Given the description of an element on the screen output the (x, y) to click on. 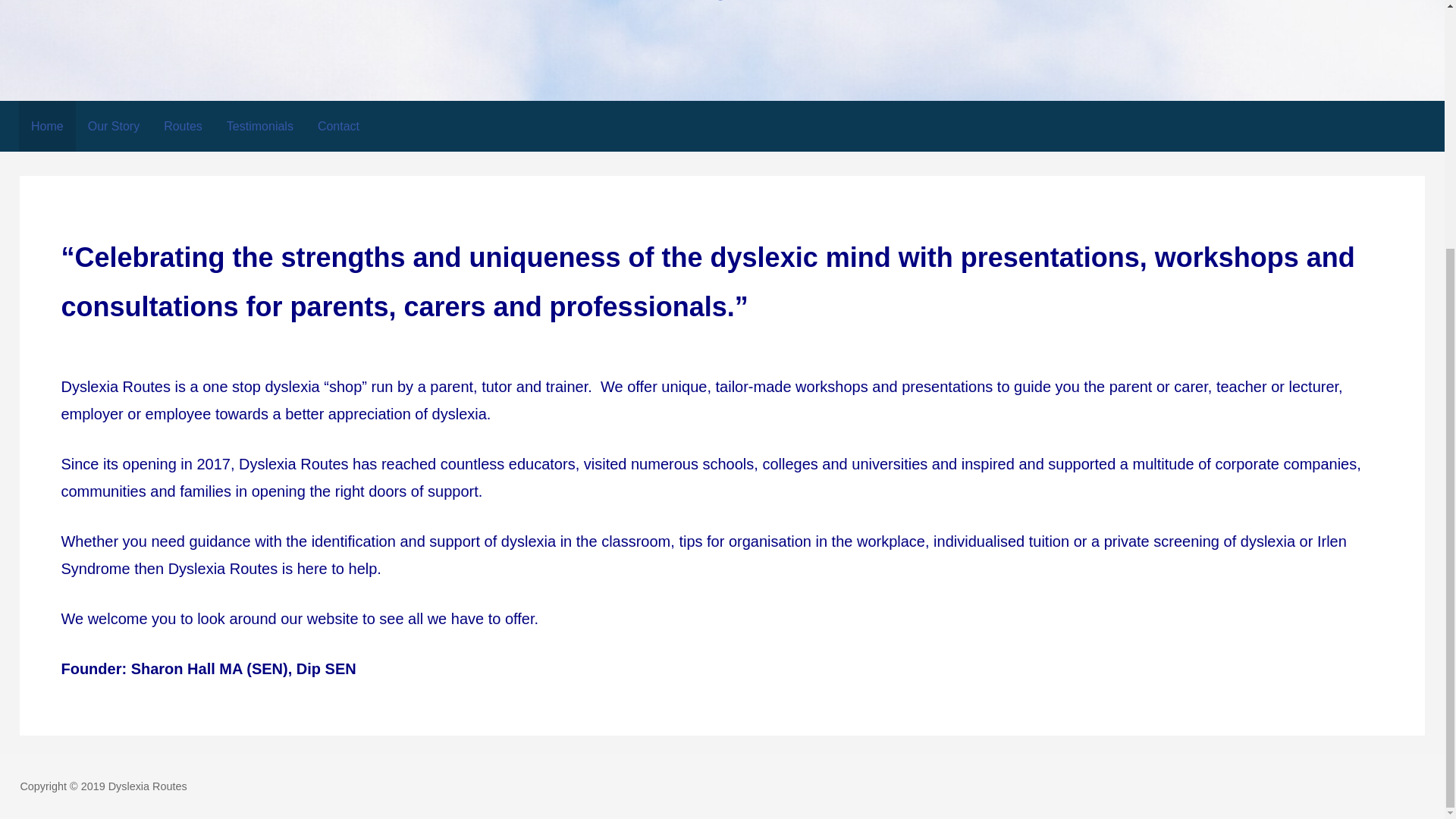
Routes (182, 125)
Contact (338, 125)
Our Story (113, 125)
Home (46, 125)
Testimonials (259, 125)
Dyslexia Routes (120, 32)
